Given the description of an element on the screen output the (x, y) to click on. 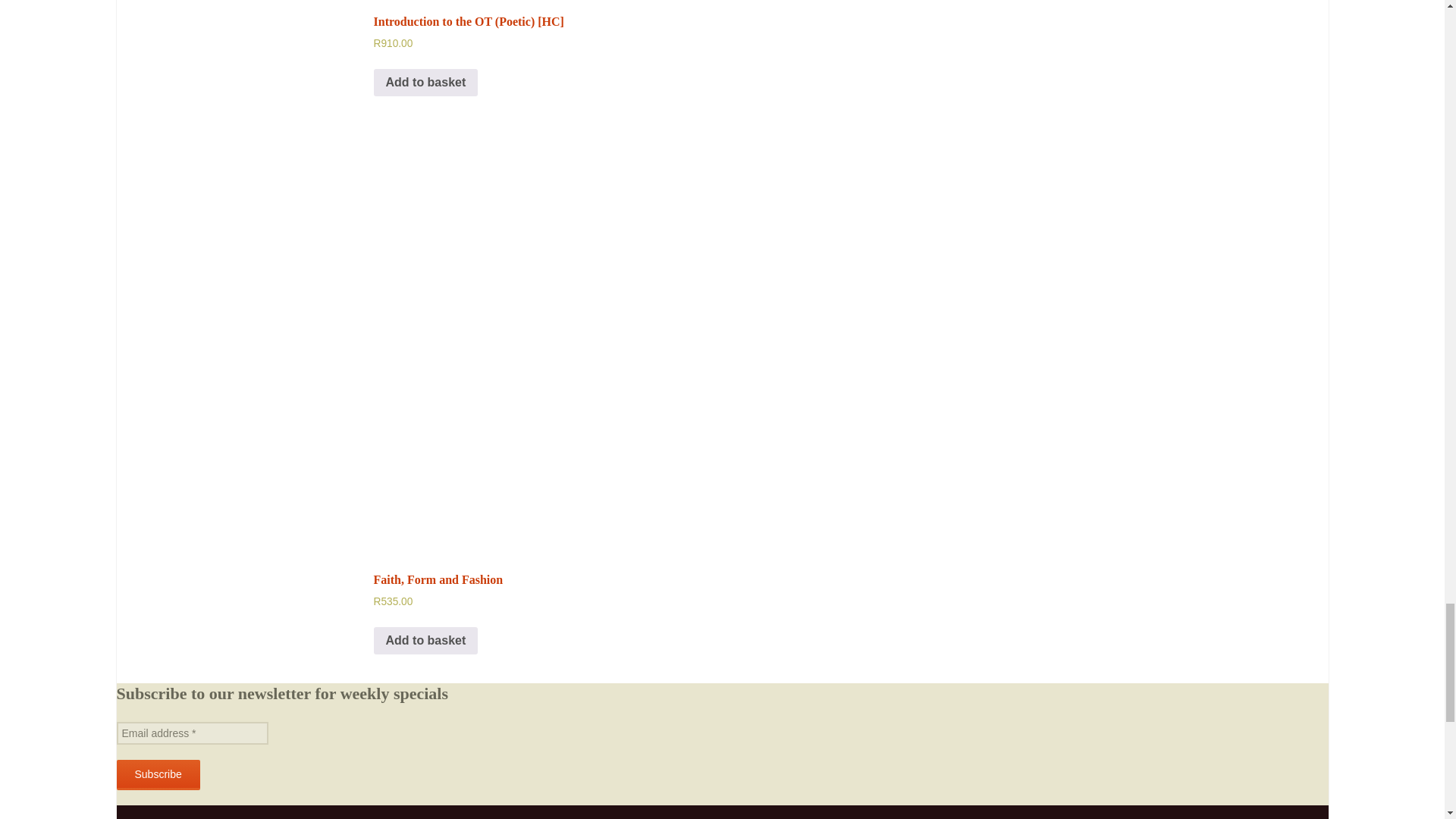
Subscribe (158, 775)
Email address (191, 732)
